Given the description of an element on the screen output the (x, y) to click on. 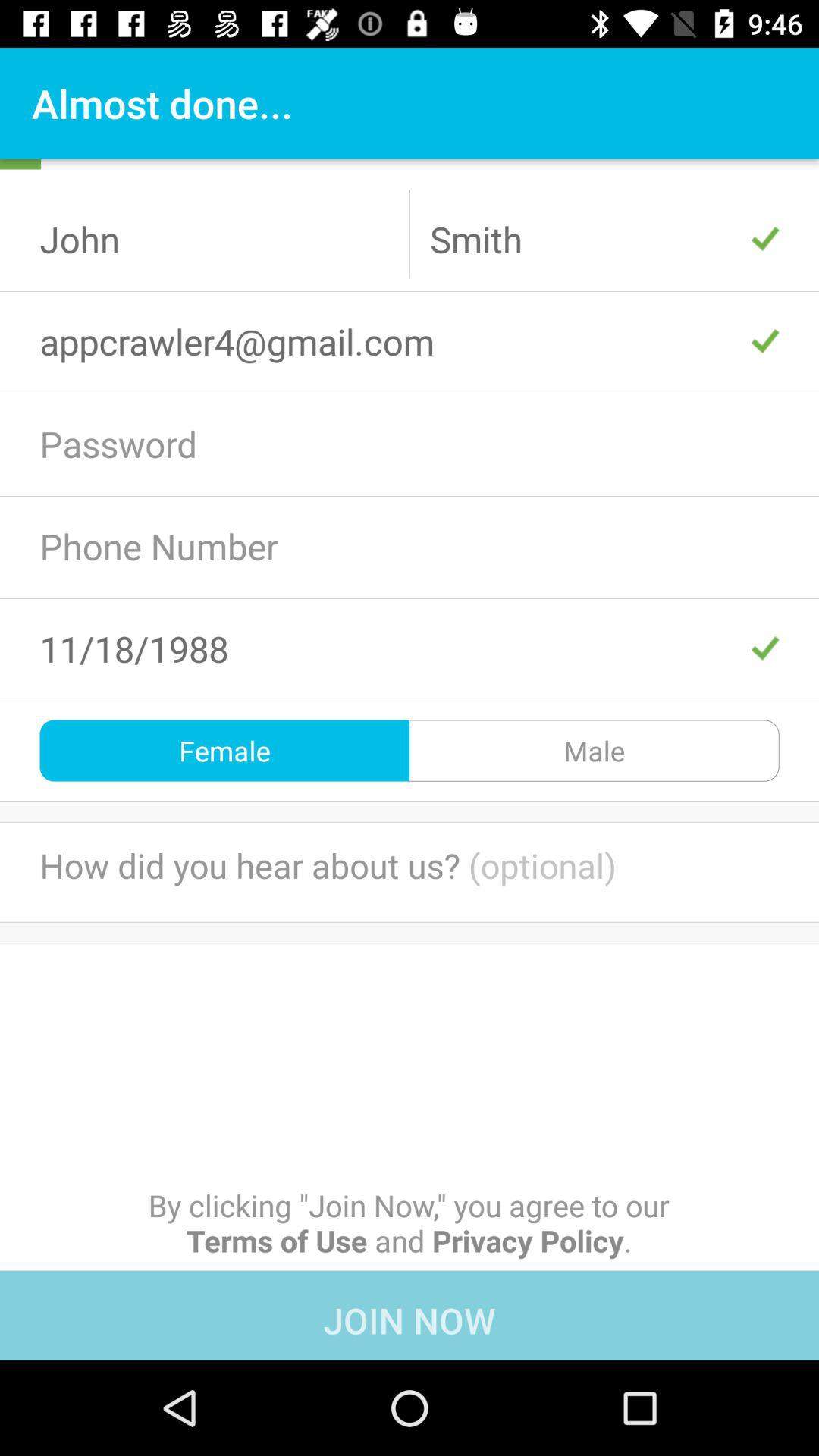
click male (594, 750)
